Given the description of an element on the screen output the (x, y) to click on. 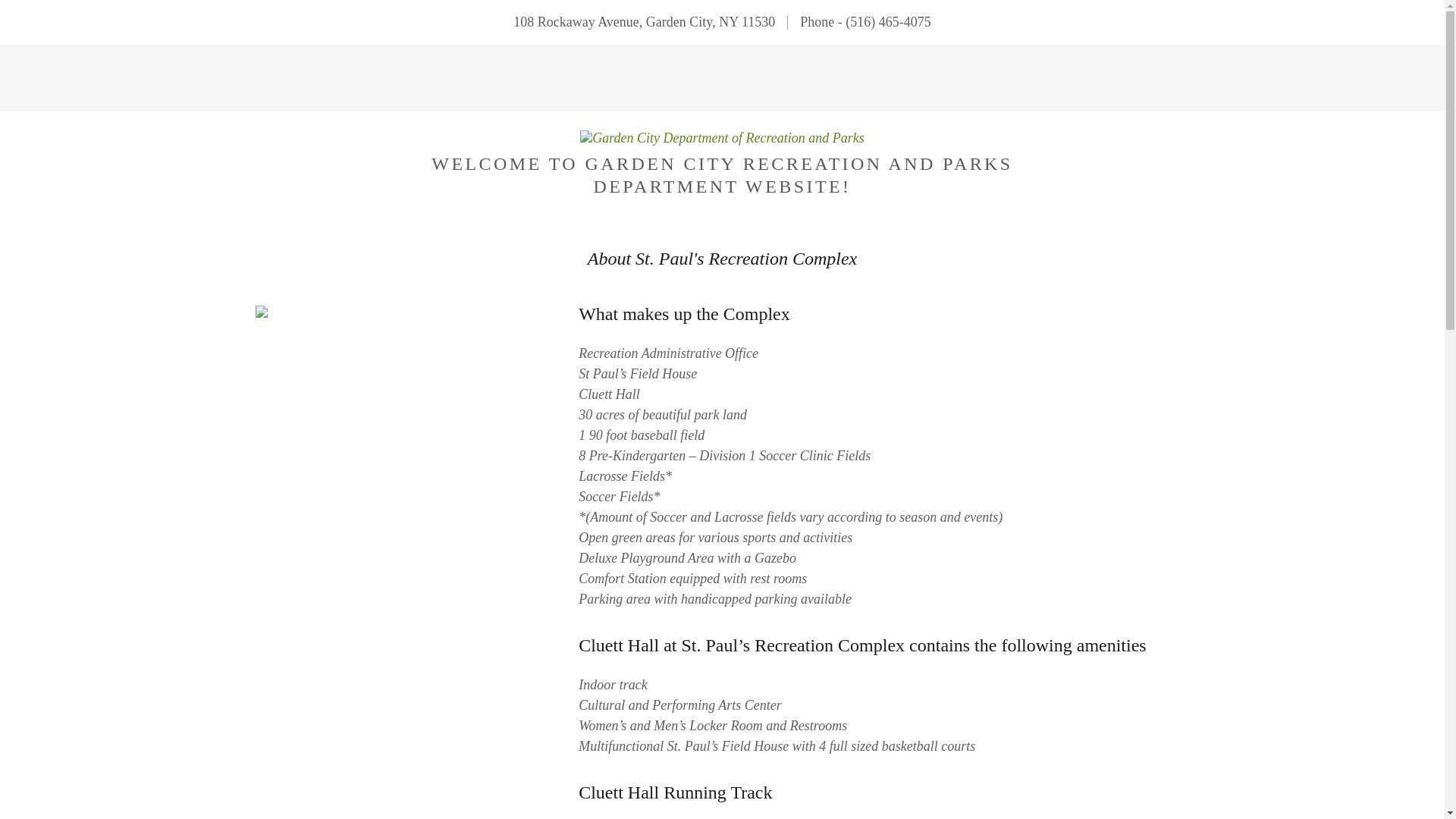
Garden City Department of Recreation and Parks (721, 136)
